Given the description of an element on the screen output the (x, y) to click on. 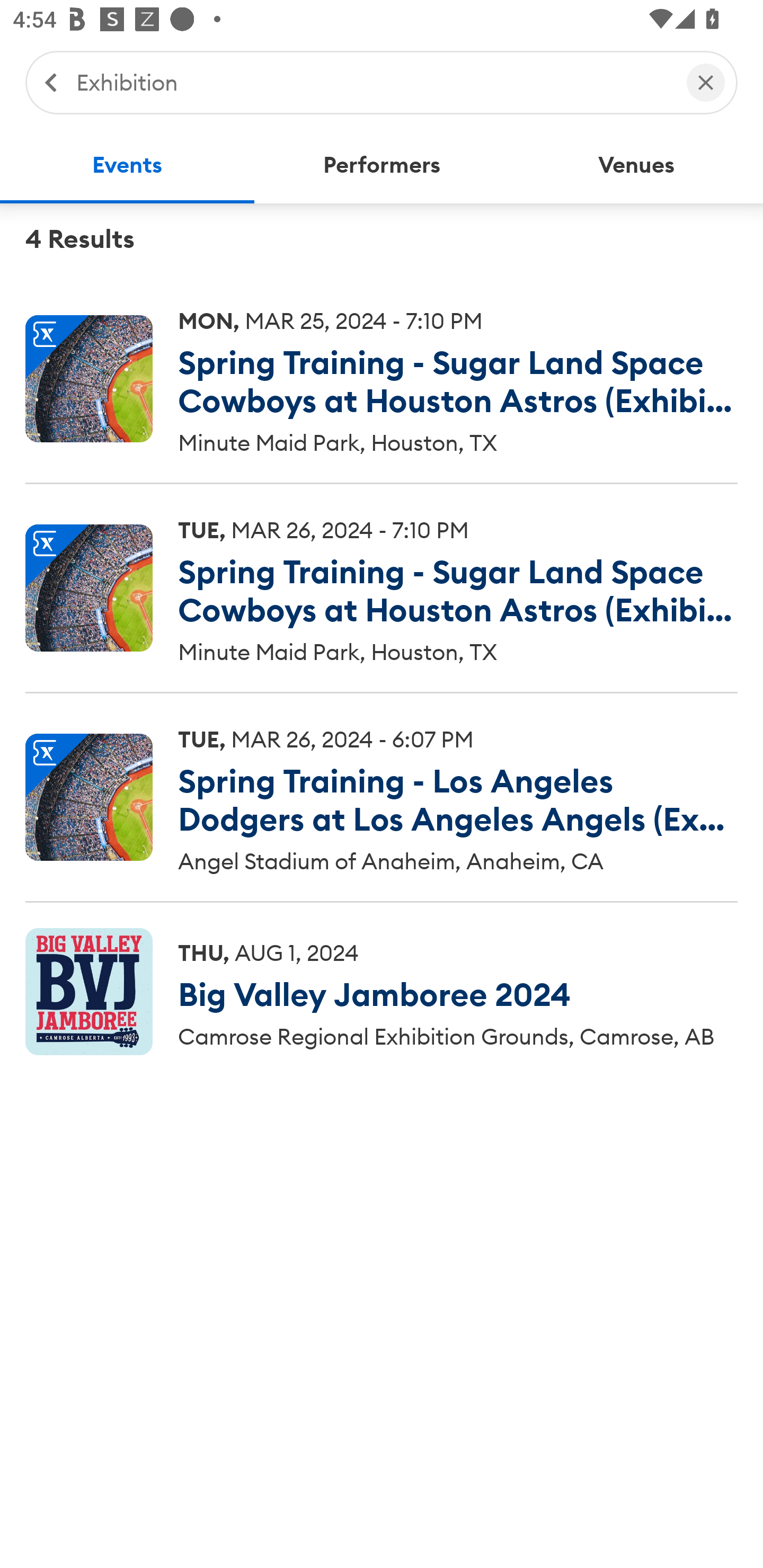
Exhibition (371, 81)
Clear Search (705, 81)
Performers (381, 165)
Venues (635, 165)
